Given the description of an element on the screen output the (x, y) to click on. 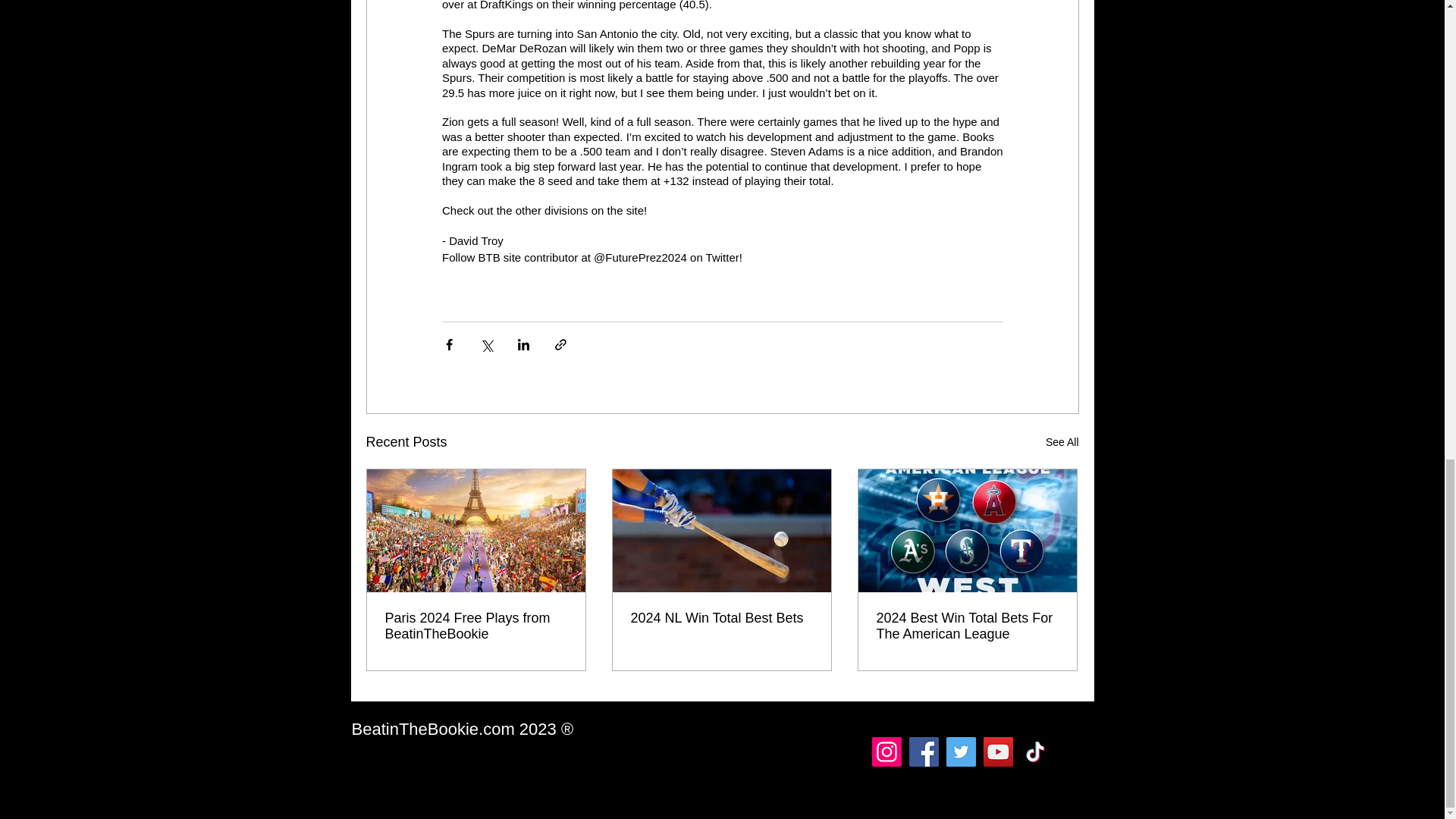
2024 Best Win Total Bets For The American League (967, 626)
See All (1061, 442)
Paris 2024 Free Plays from BeatinTheBookie (476, 626)
2024 NL Win Total Best Bets (721, 618)
